Given the description of an element on the screen output the (x, y) to click on. 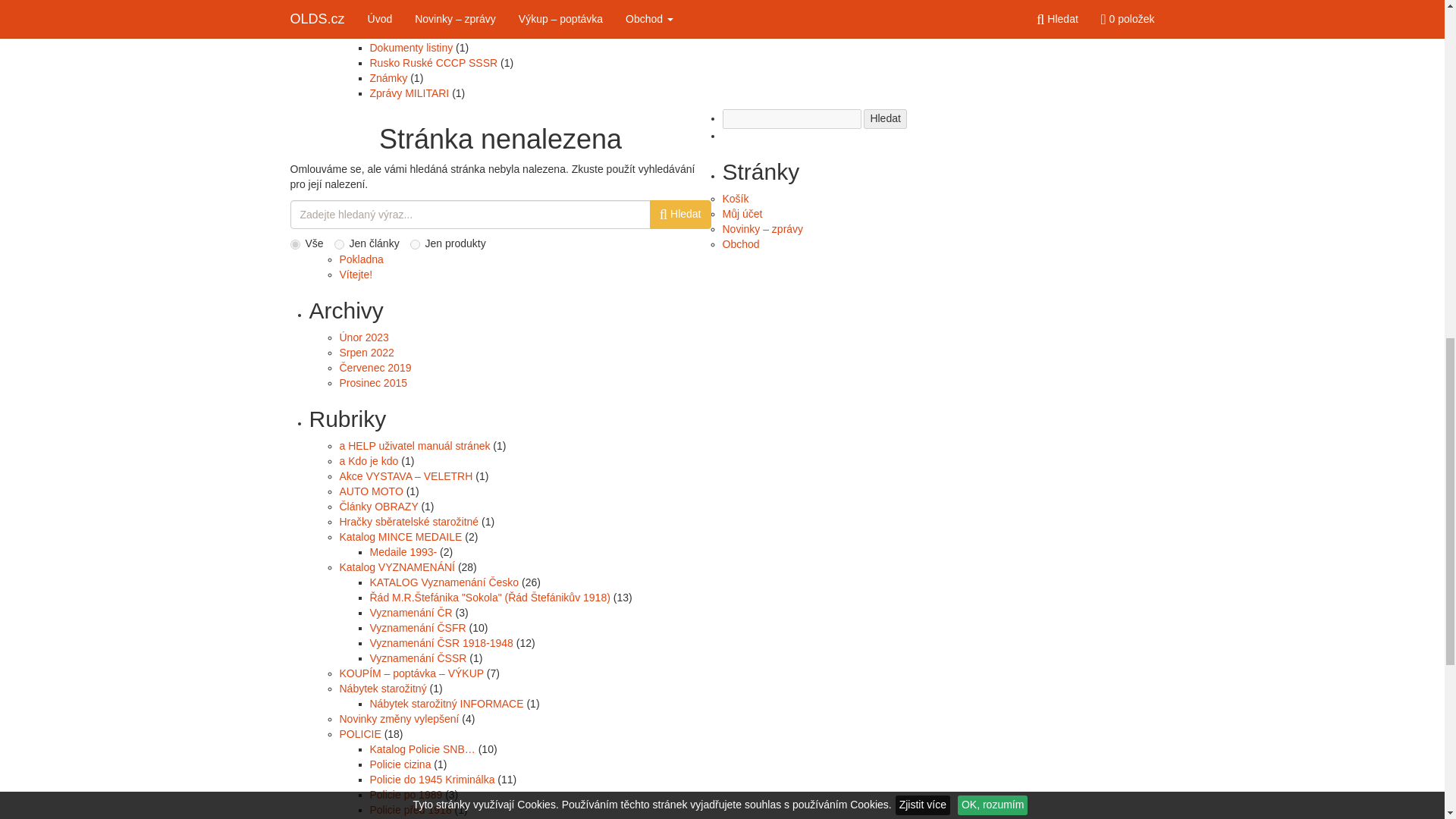
post (338, 244)
any (294, 244)
Hledat (884, 118)
product (415, 244)
